Given the description of an element on the screen output the (x, y) to click on. 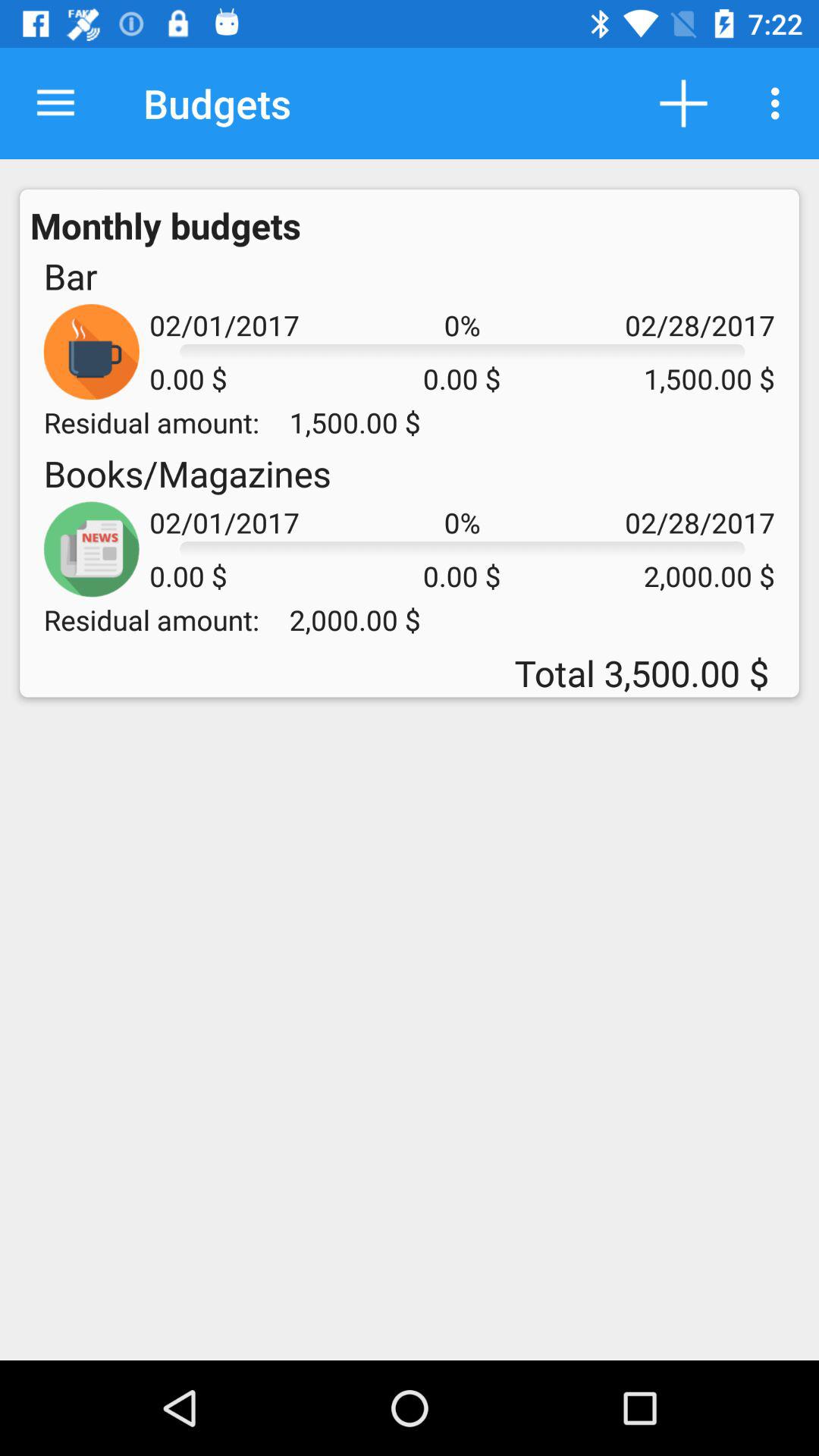
click the total 3 500 (409, 672)
